Given the description of an element on the screen output the (x, y) to click on. 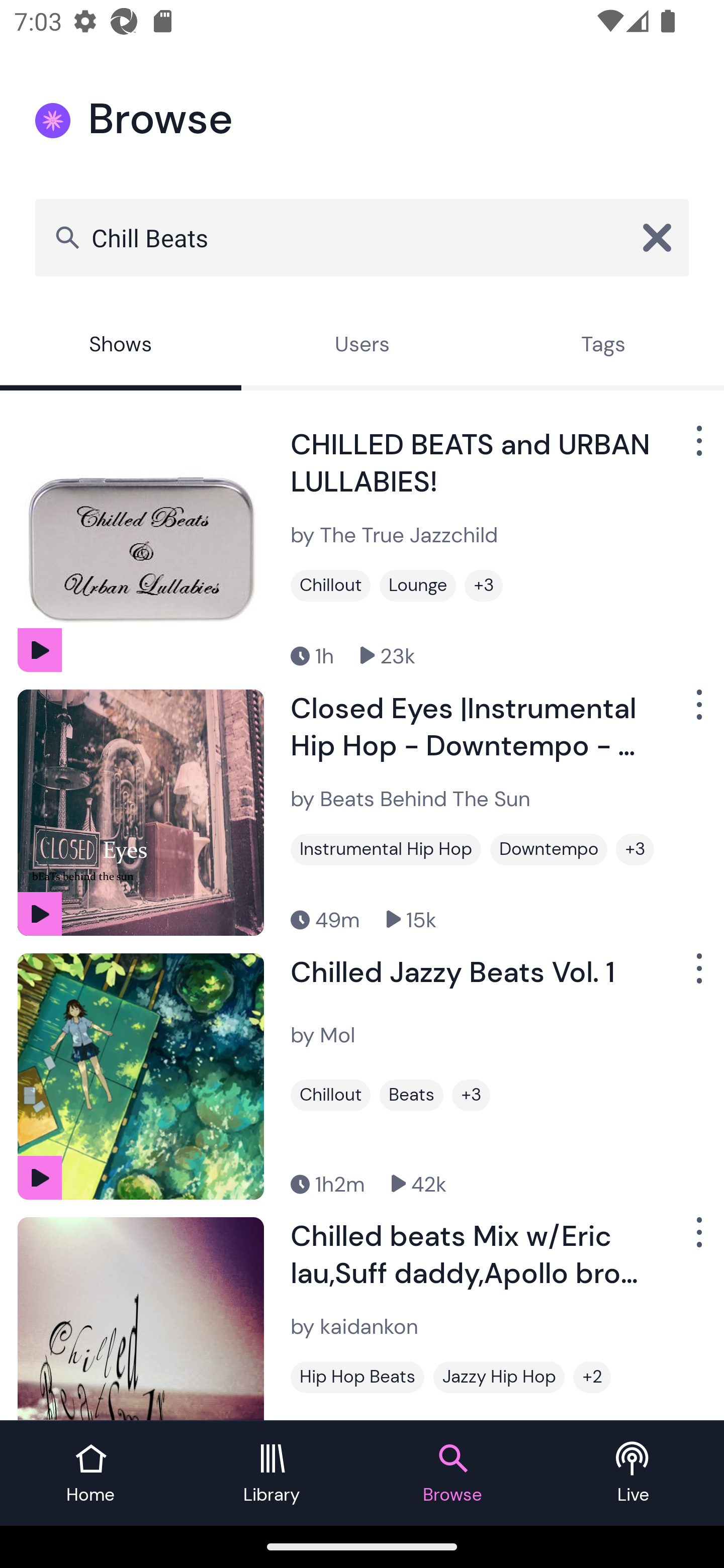
Chill Beats (361, 237)
Shows (120, 346)
Users (361, 346)
Tags (603, 346)
Show Options Menu Button (697, 447)
Chillout (330, 585)
Lounge (417, 585)
Show Options Menu Button (697, 712)
Instrumental Hip Hop (385, 849)
Downtempo (548, 849)
Show Options Menu Button (697, 975)
Chillout (330, 1094)
Beats (411, 1094)
Show Options Menu Button (697, 1239)
Hip Hop Beats (357, 1376)
Jazzy Hip Hop (498, 1376)
Home tab Home (90, 1473)
Library tab Library (271, 1473)
Browse tab Browse (452, 1473)
Live tab Live (633, 1473)
